Given the description of an element on the screen output the (x, y) to click on. 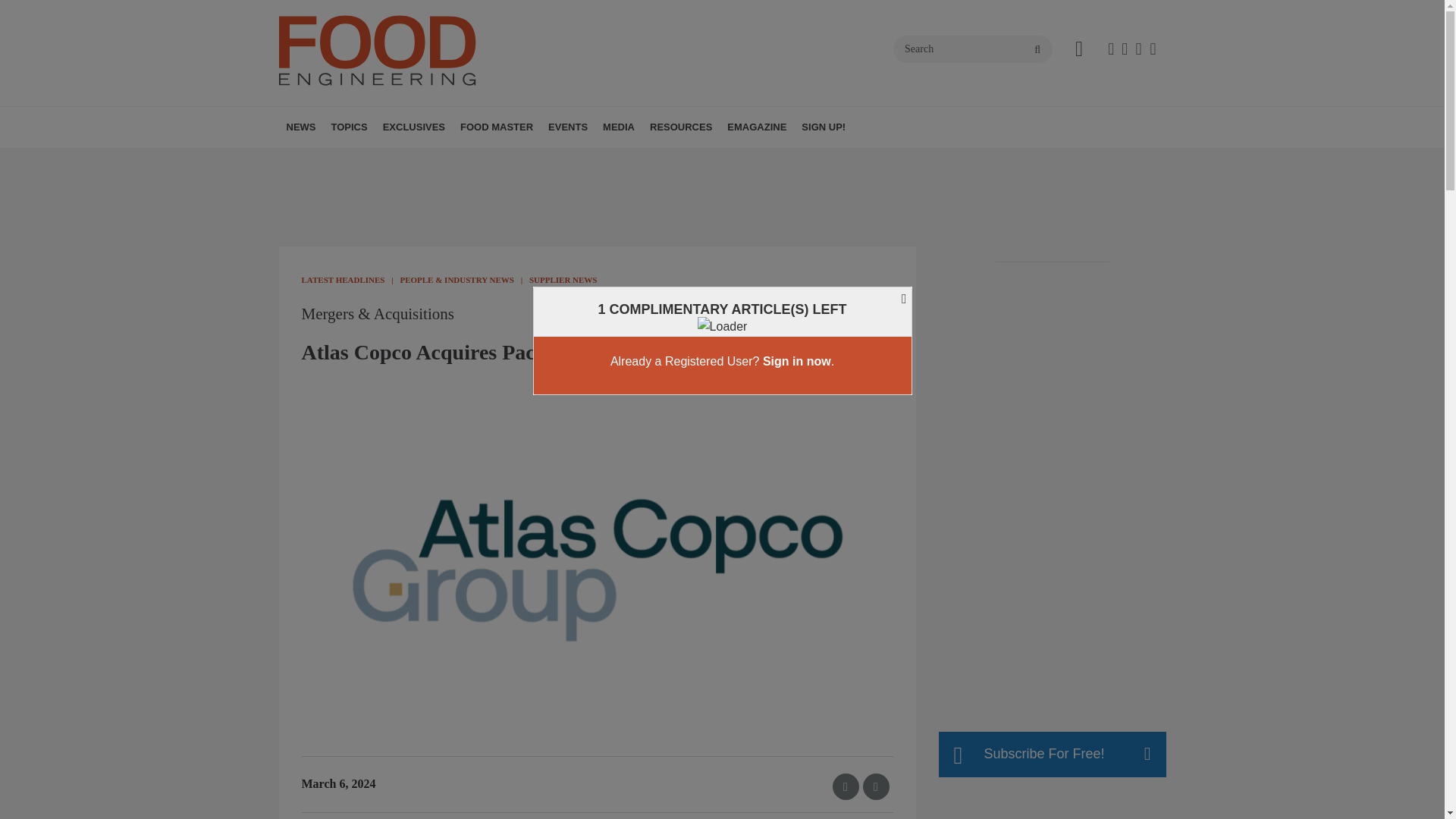
OEE (452, 160)
SUPPLIER NEWS (407, 160)
EXCLUSIVES (413, 127)
PLANT OF THE YEAR (476, 160)
RECALLS (400, 160)
search (1037, 50)
MORE (461, 160)
Search (972, 49)
SUSTAINABLE PLANT OF THE YEAR (483, 169)
MANUFACTURING NEWS (380, 160)
